Given the description of an element on the screen output the (x, y) to click on. 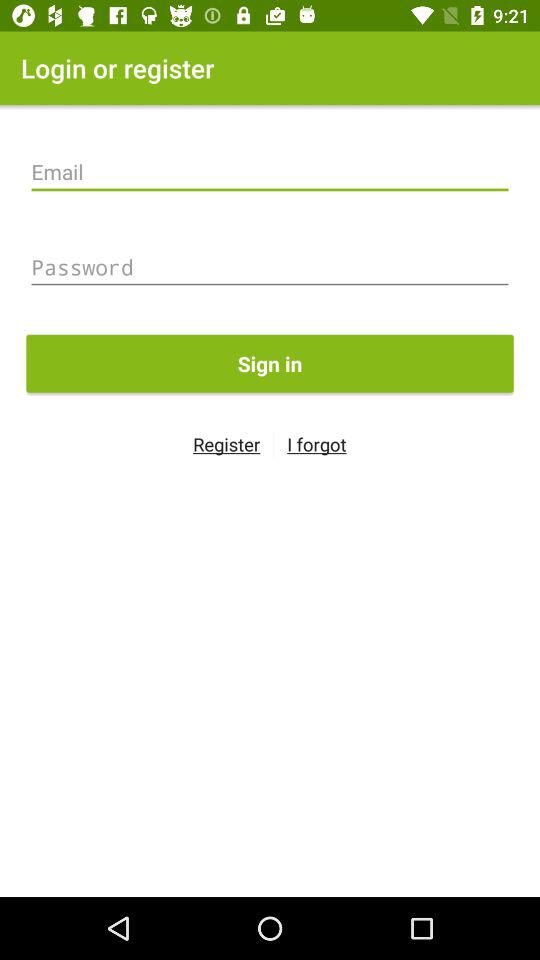
click item above sign in icon (269, 267)
